Given the description of an element on the screen output the (x, y) to click on. 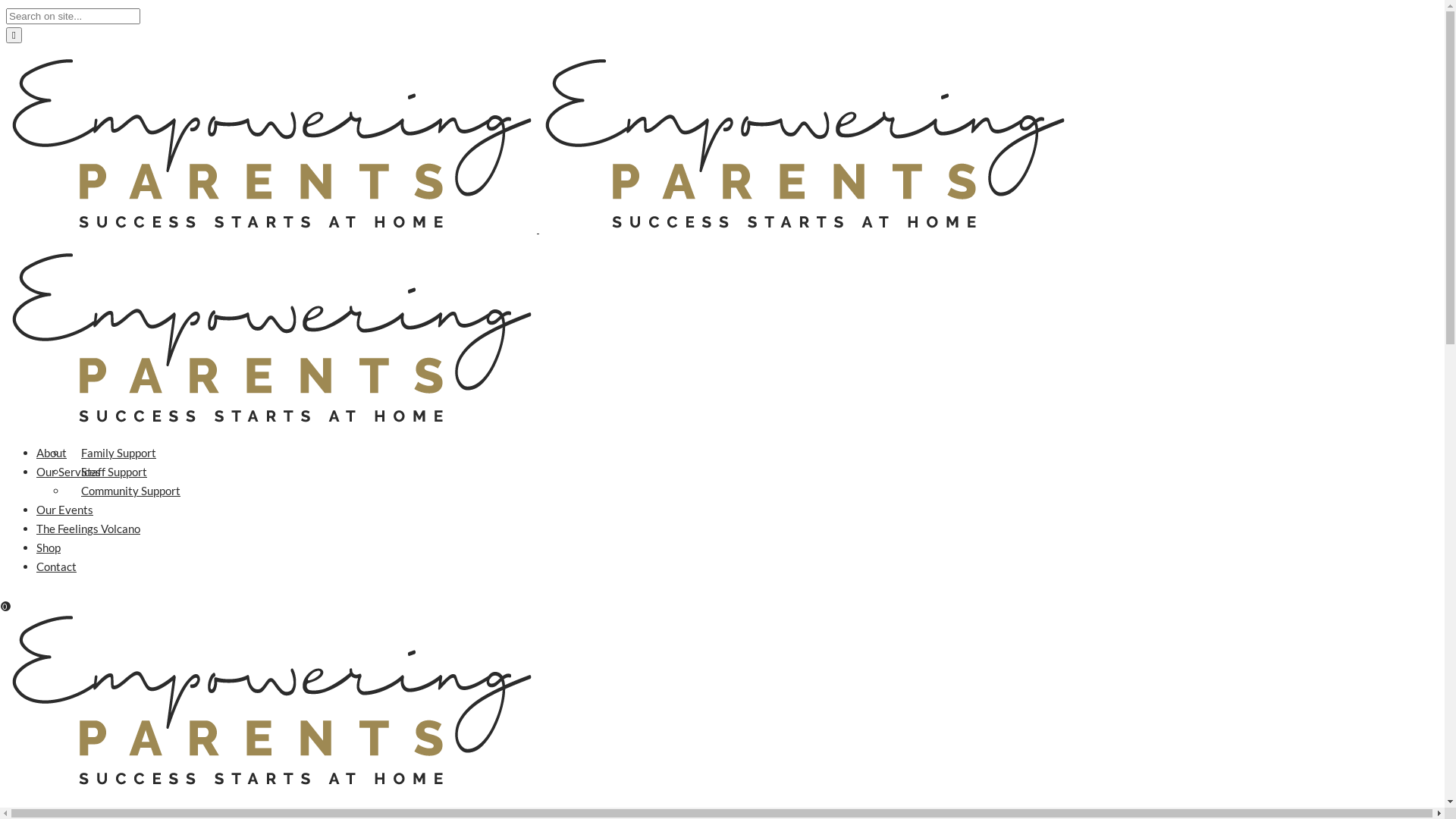
The Feelings Volcano Element type: text (88, 528)
Family Support Element type: text (118, 452)
Shop Element type: text (48, 547)
Staff Support Element type: text (113, 471)
Our Events Element type: text (64, 509)
Community Support Element type: text (130, 490)
About Element type: text (51, 452)
Our Services Element type: text (68, 471)
Contact Element type: text (56, 566)
